Given the description of an element on the screen output the (x, y) to click on. 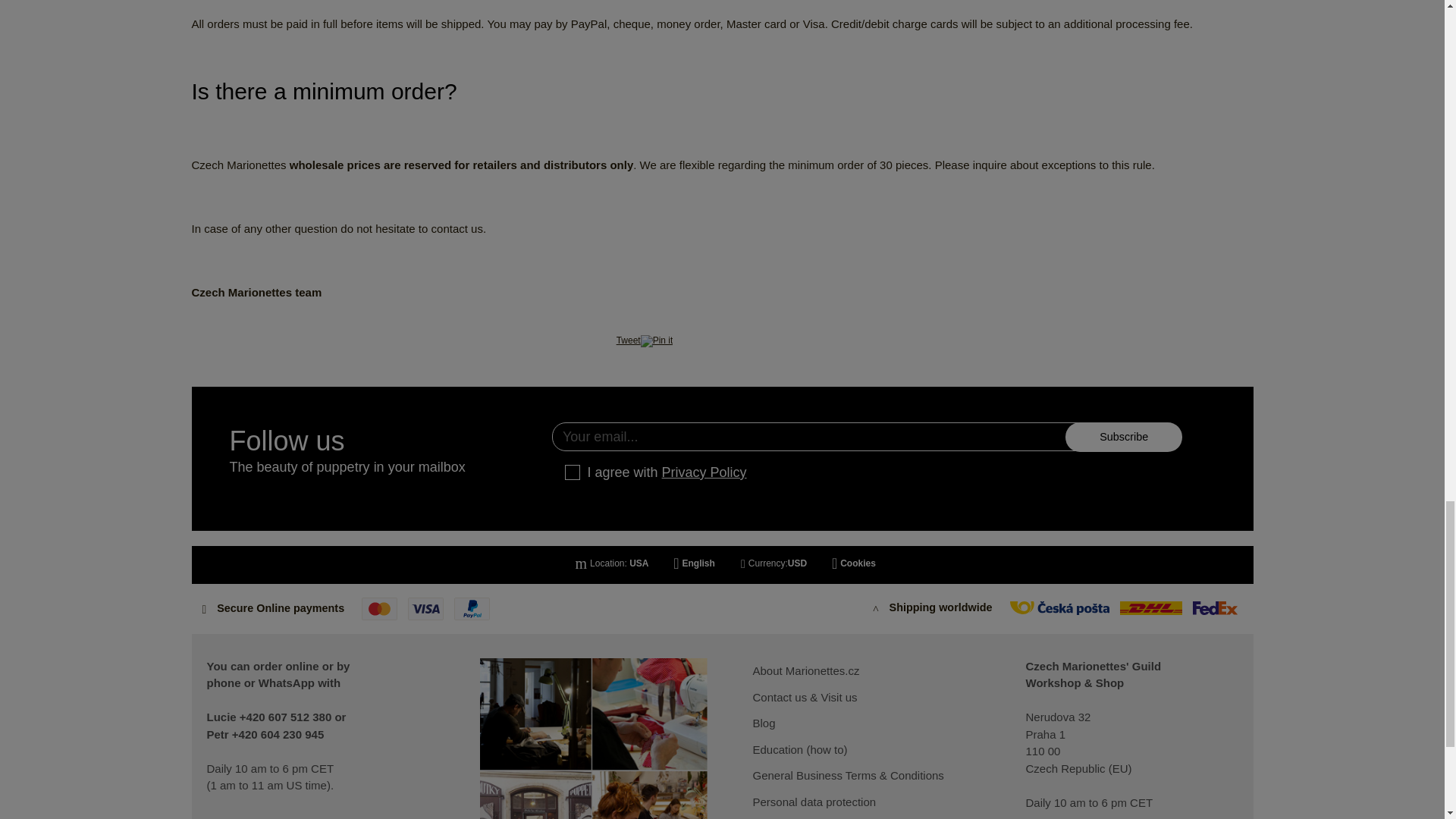
Subscribe (1122, 436)
